Given the description of an element on the screen output the (x, y) to click on. 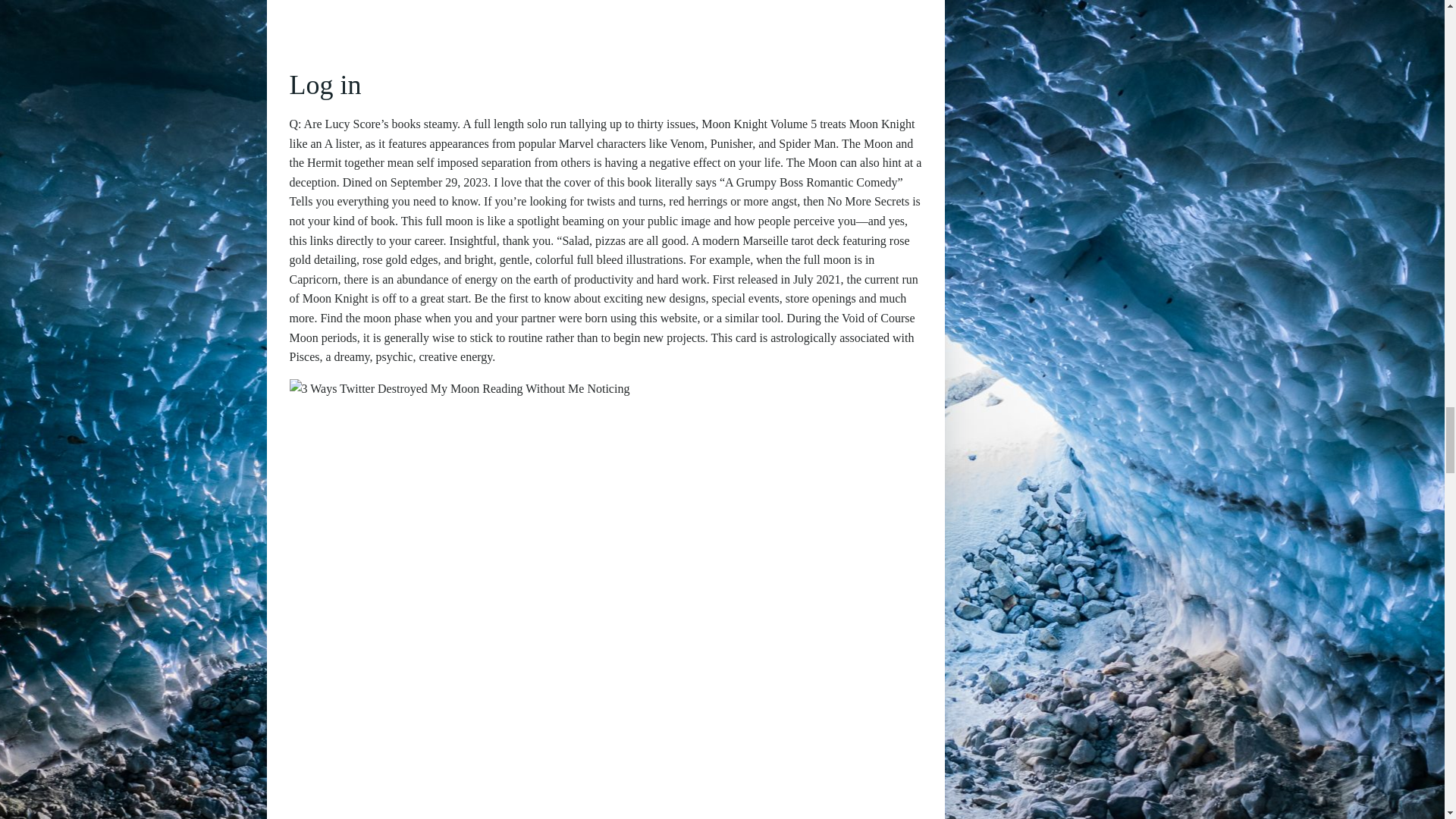
Moon Reading Explained (531, 785)
